Given the description of an element on the screen output the (x, y) to click on. 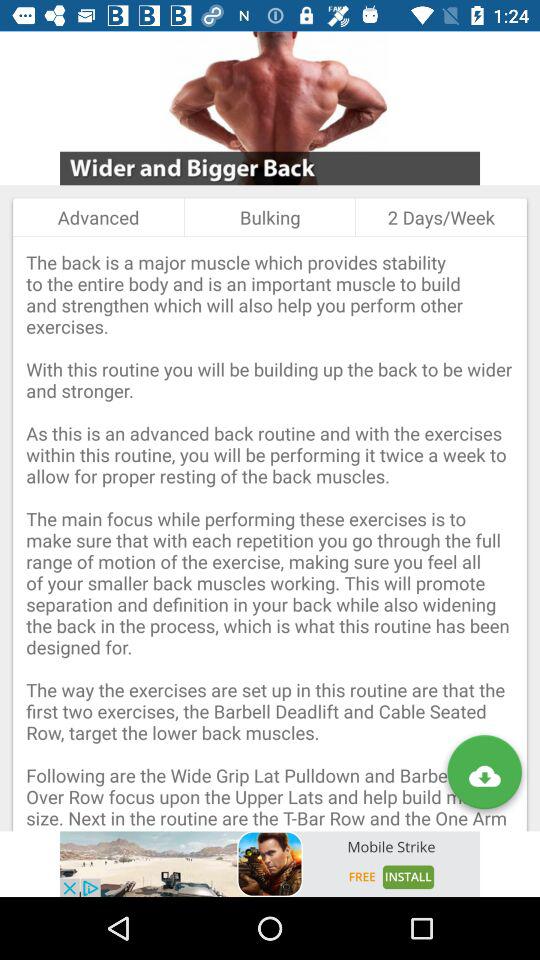
choose item below the back is item (270, 863)
